Given the description of an element on the screen output the (x, y) to click on. 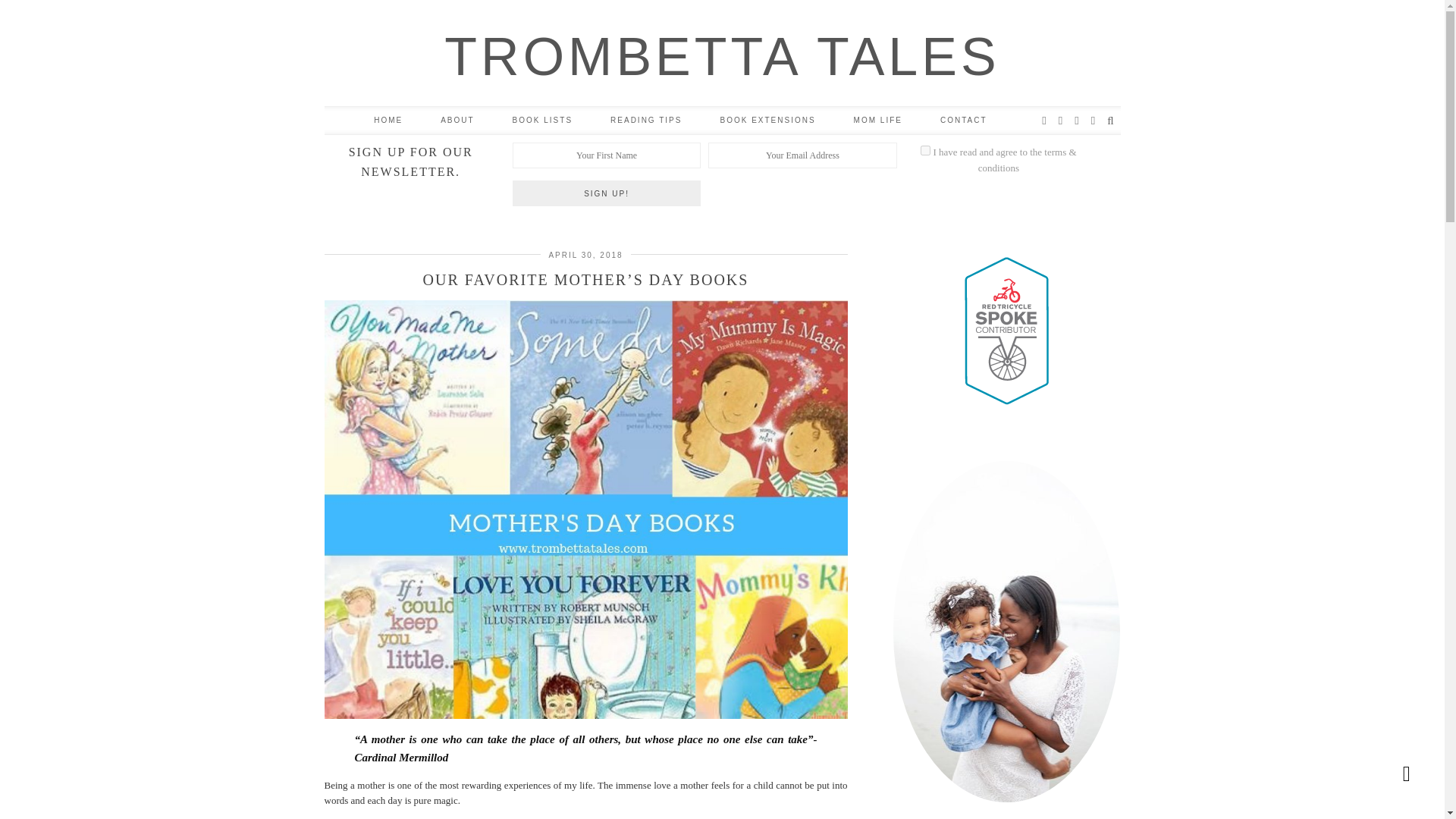
TROMBETTA TALES (721, 56)
MOM LIFE (877, 120)
Sign up! (606, 193)
1 (925, 150)
HOME (388, 120)
CONTACT (963, 120)
Sign up! (606, 193)
BOOK EXTENSIONS (767, 120)
READING TIPS (645, 120)
BOOK LISTS (542, 120)
